Given the description of an element on the screen output the (x, y) to click on. 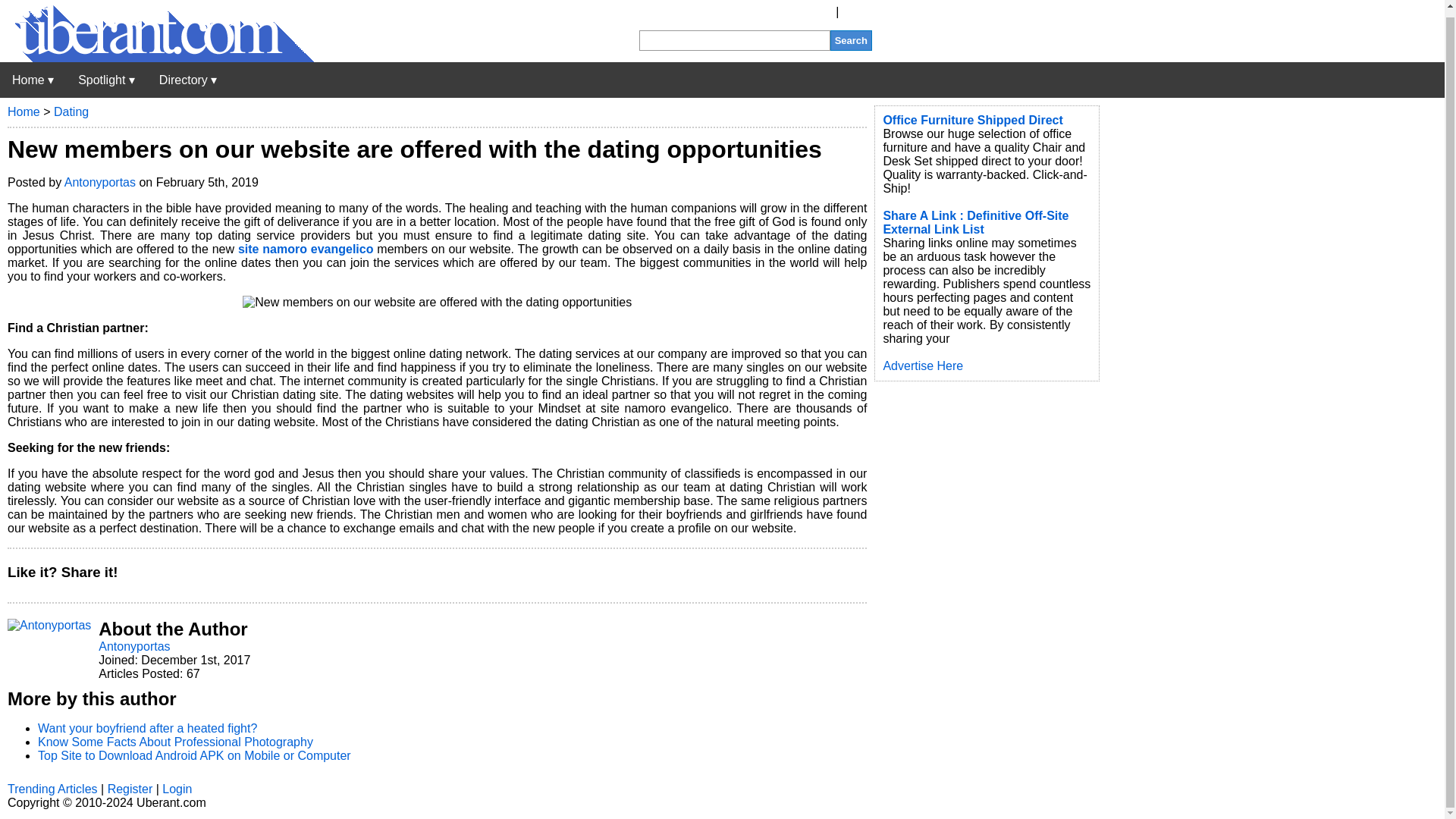
Uberant (32, 79)
Register (809, 11)
Search (850, 40)
Uberant (157, 57)
Search (850, 40)
Login (857, 11)
